Given the description of an element on the screen output the (x, y) to click on. 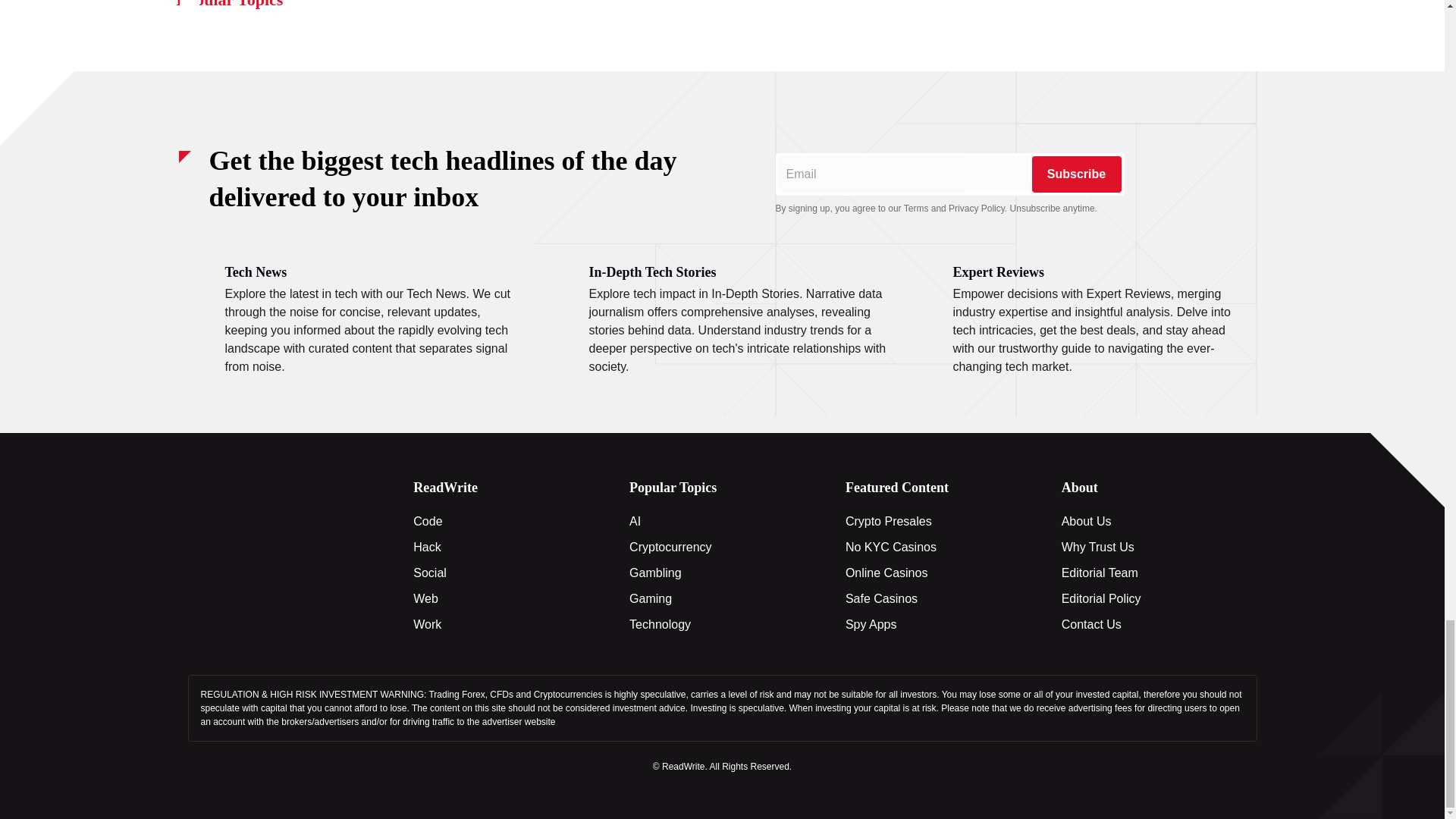
Subscribe (1075, 174)
